Given the description of an element on the screen output the (x, y) to click on. 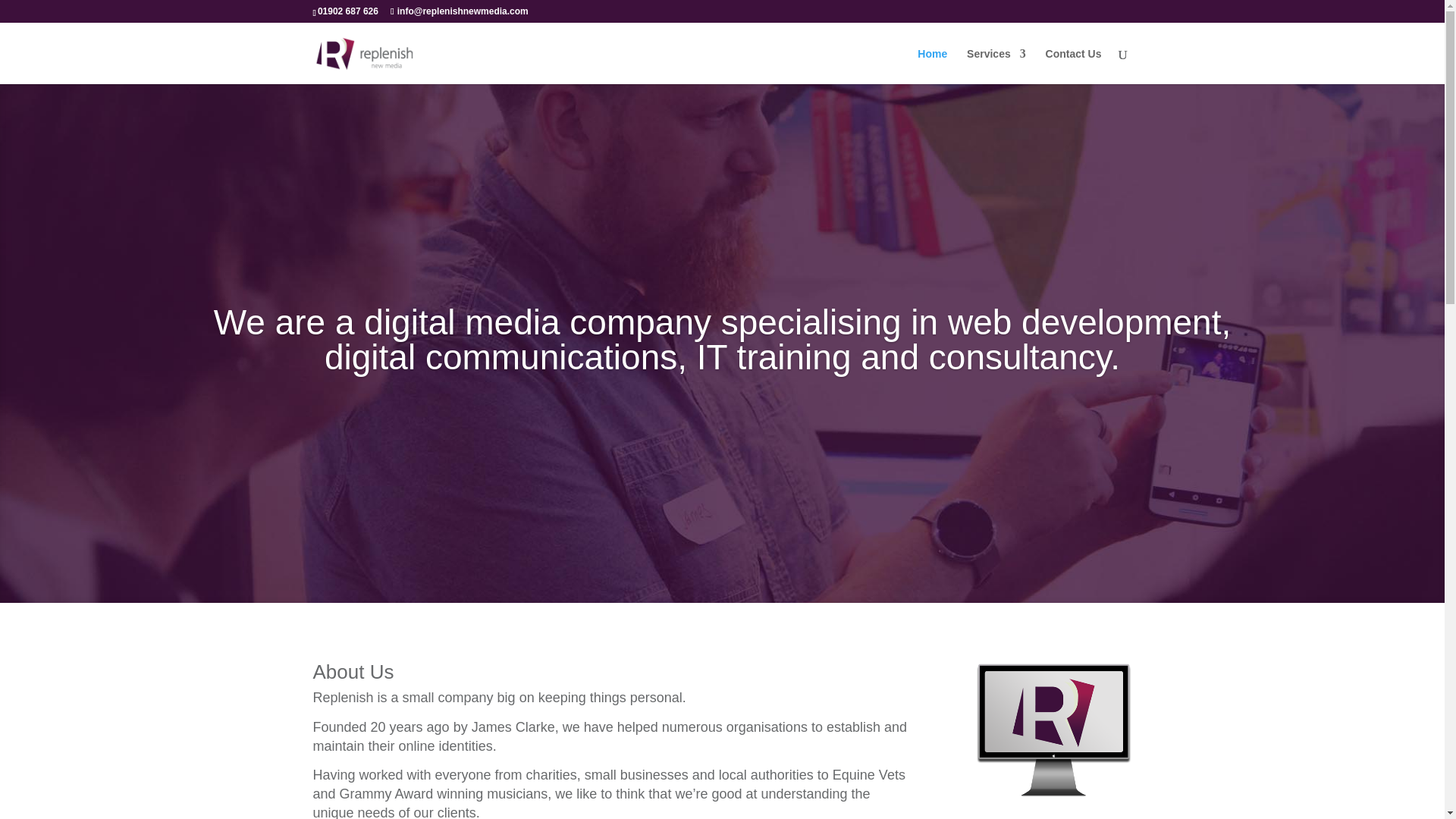
Contact Us (1073, 66)
James D Clarke (1053, 730)
Services (996, 66)
